Given the description of an element on the screen output the (x, y) to click on. 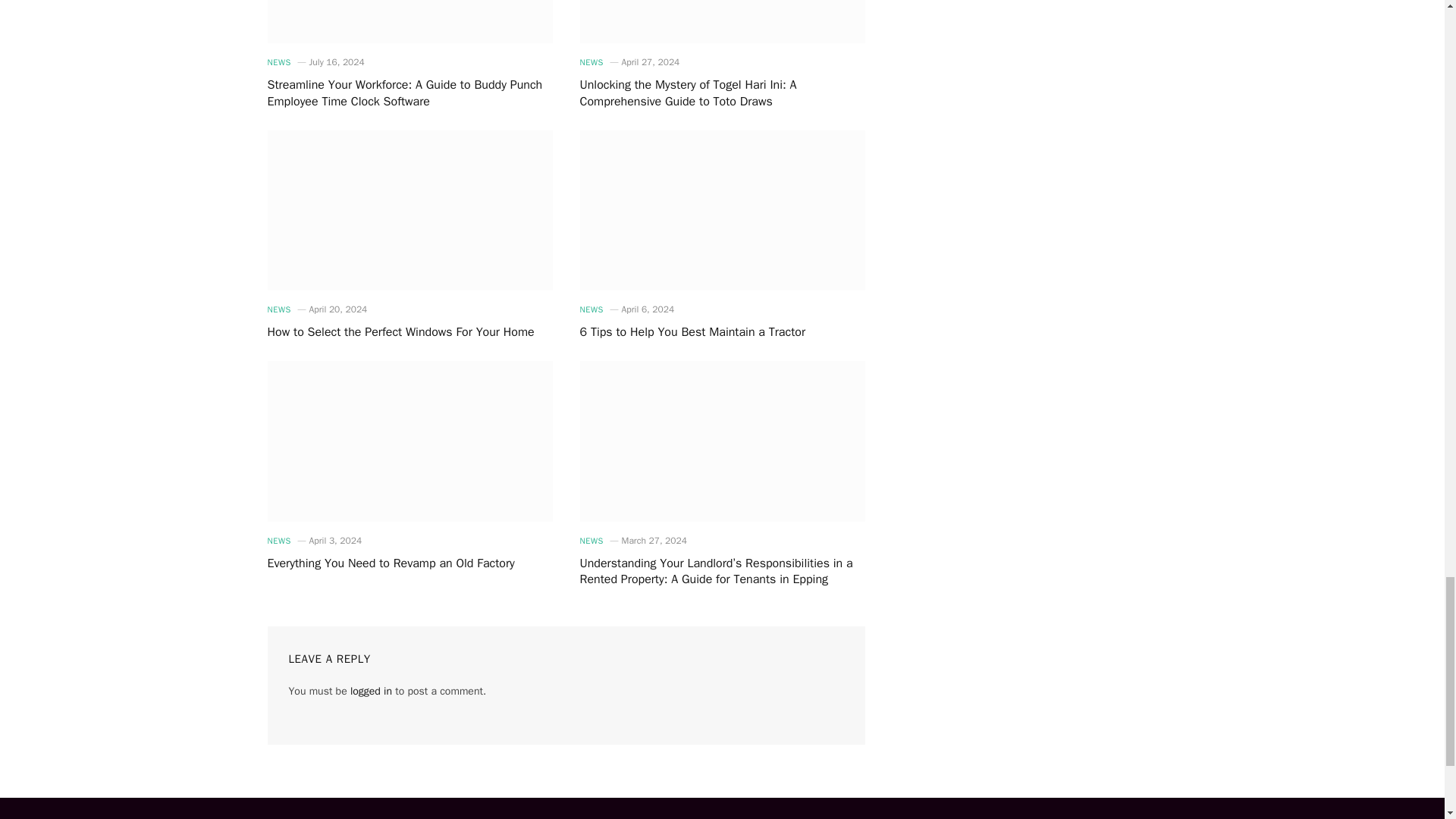
NEWS (277, 62)
